Given the description of an element on the screen output the (x, y) to click on. 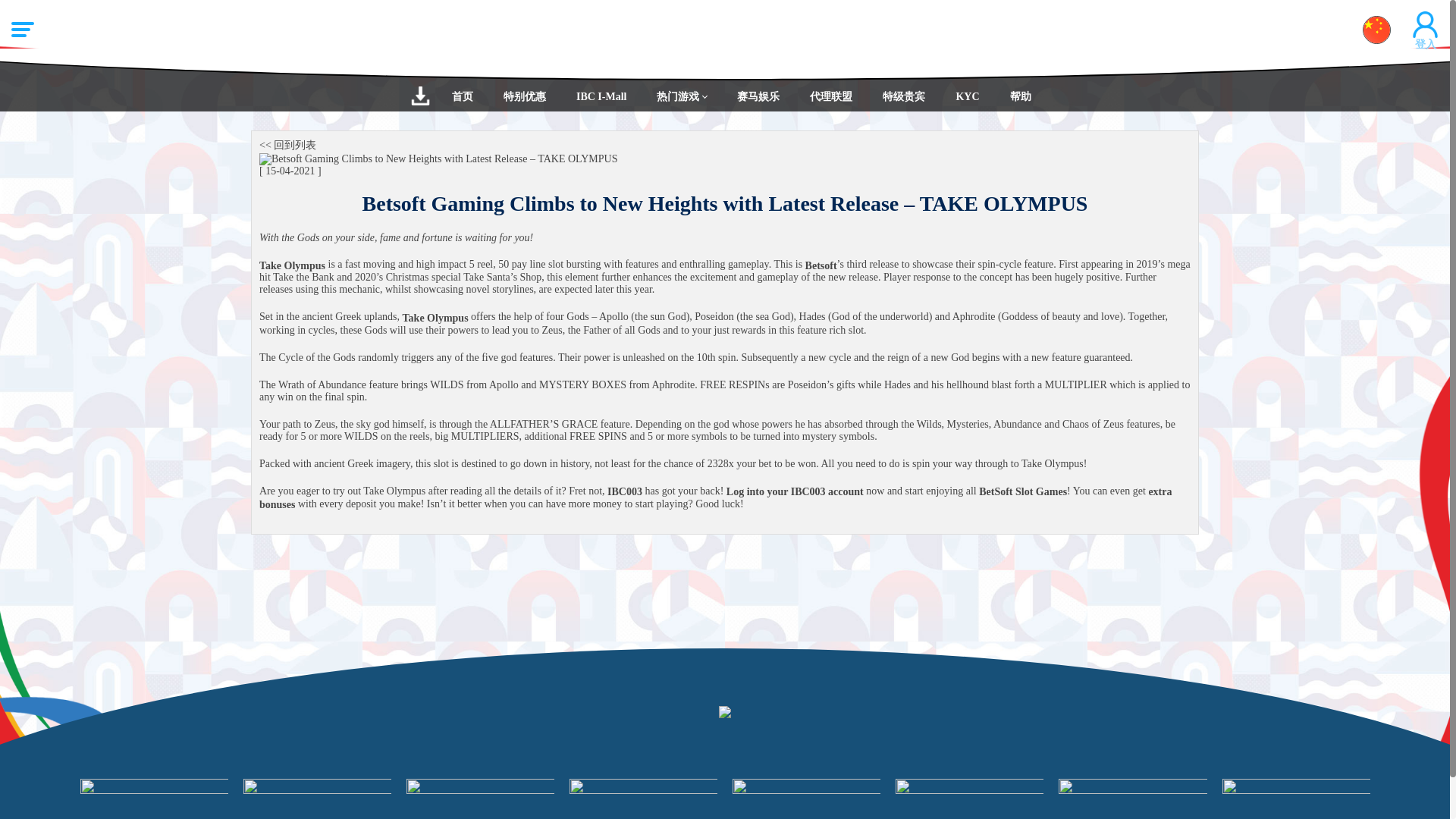
IBC I-Mall (601, 95)
KYC (967, 95)
